Given the description of an element on the screen output the (x, y) to click on. 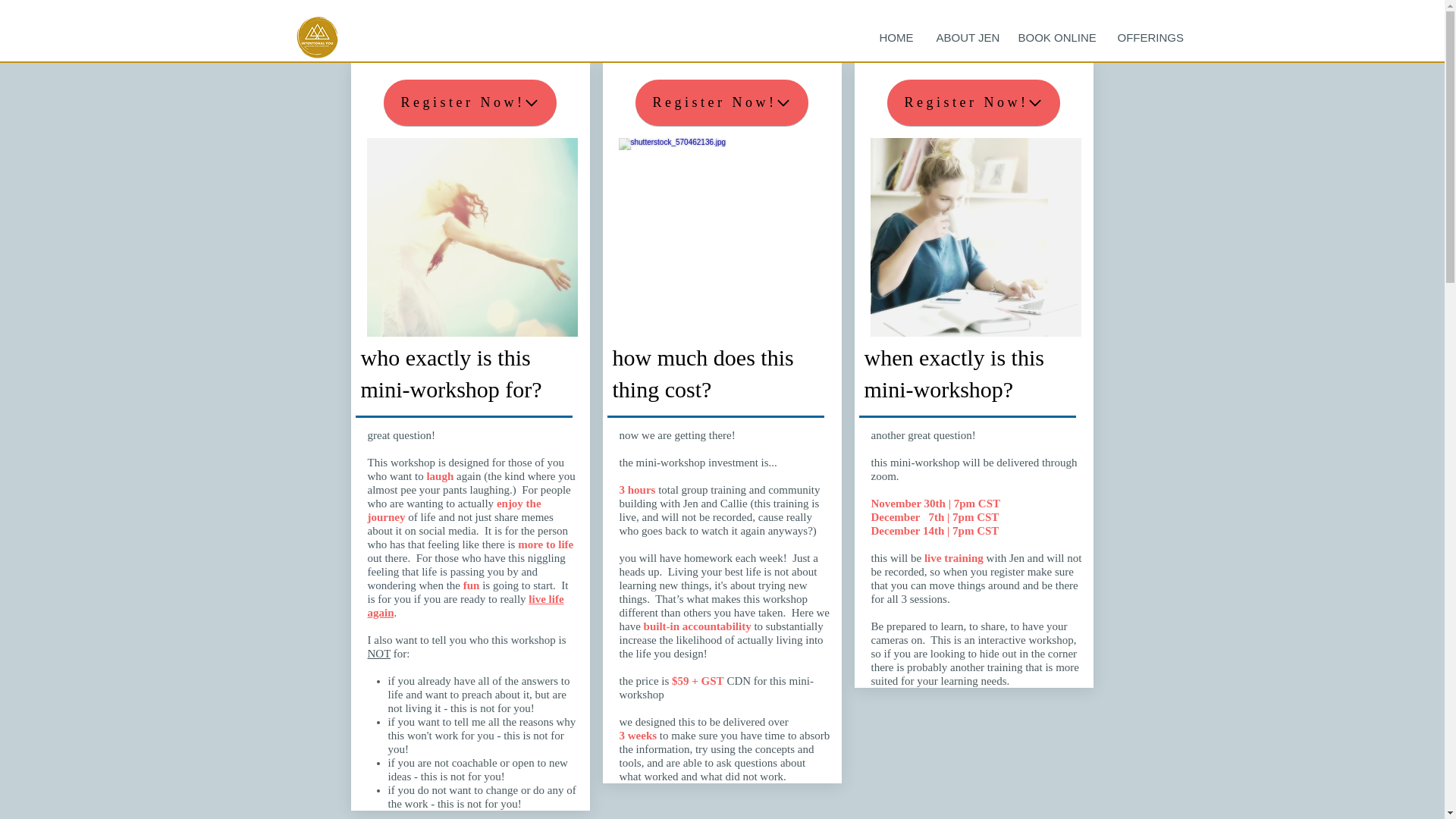
OFFERINGS (1146, 38)
Register Now! (470, 102)
Register Now! (721, 102)
Register Now! (972, 102)
ABOUT JEN (965, 38)
BOOK ONLINE (1056, 38)
HOME (895, 38)
